Given the description of an element on the screen output the (x, y) to click on. 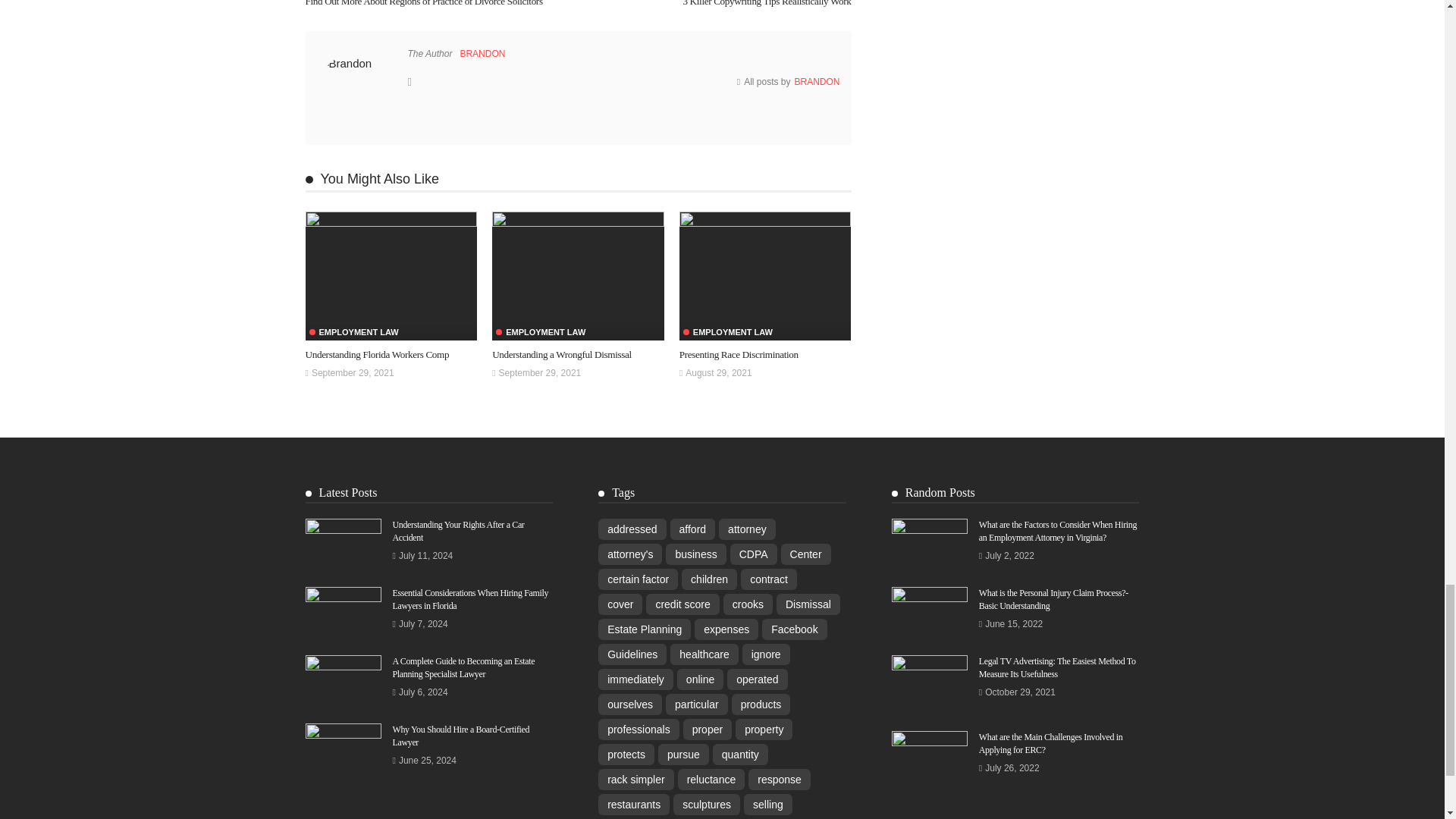
BRANDON (482, 53)
3 Killer Copywriting Tips Realistically Work (766, 3)
3 Killer Copywriting Tips Realistically Work (766, 3)
